Given the description of an element on the screen output the (x, y) to click on. 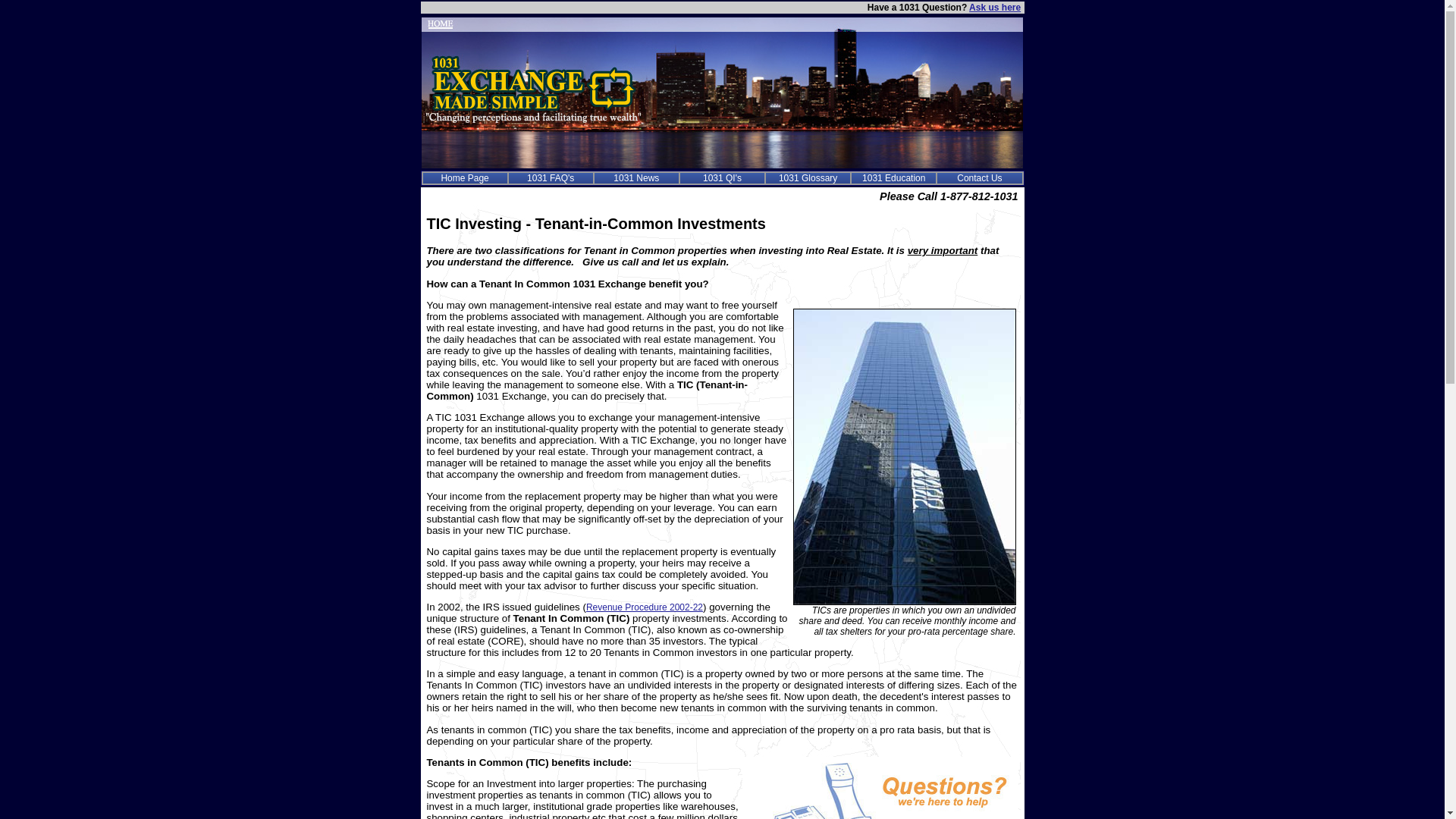
1031 QI's Element type: text (721, 177)
1031 News Element type: text (635, 177)
1031 FAQ's Element type: text (550, 177)
Home Page Element type: text (464, 177)
Contact Us Element type: text (979, 177)
Revenue Procedure 2002-22 Element type: text (644, 607)
1031 Education Element type: text (893, 177)
1031 Glossary Element type: text (807, 177)
Ask us here Element type: text (994, 7)
